Given the description of an element on the screen output the (x, y) to click on. 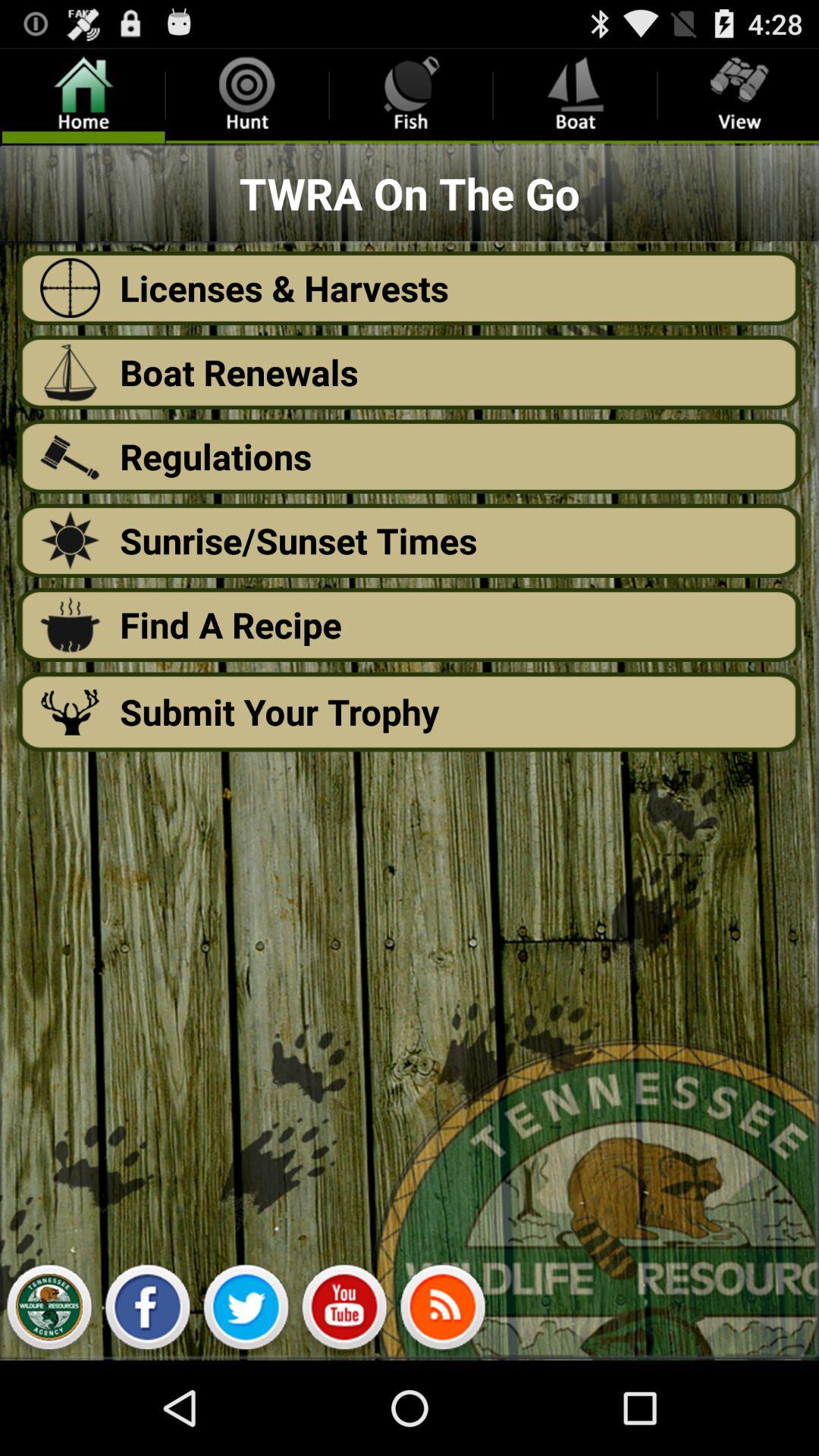
go to twitter (245, 1311)
